Given the description of an element on the screen output the (x, y) to click on. 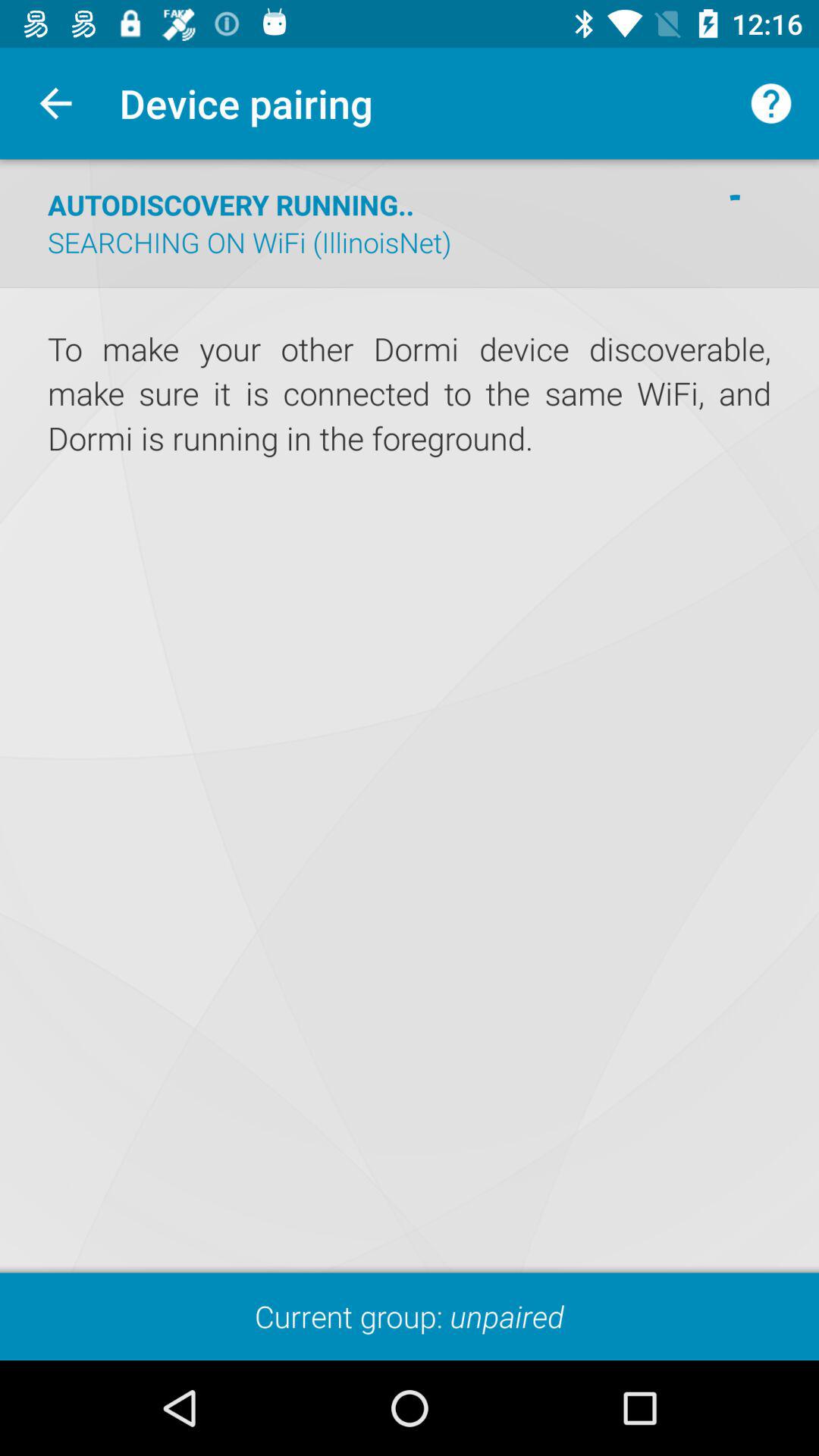
turn on autodiscovery running.. (230, 204)
